Given the description of an element on the screen output the (x, y) to click on. 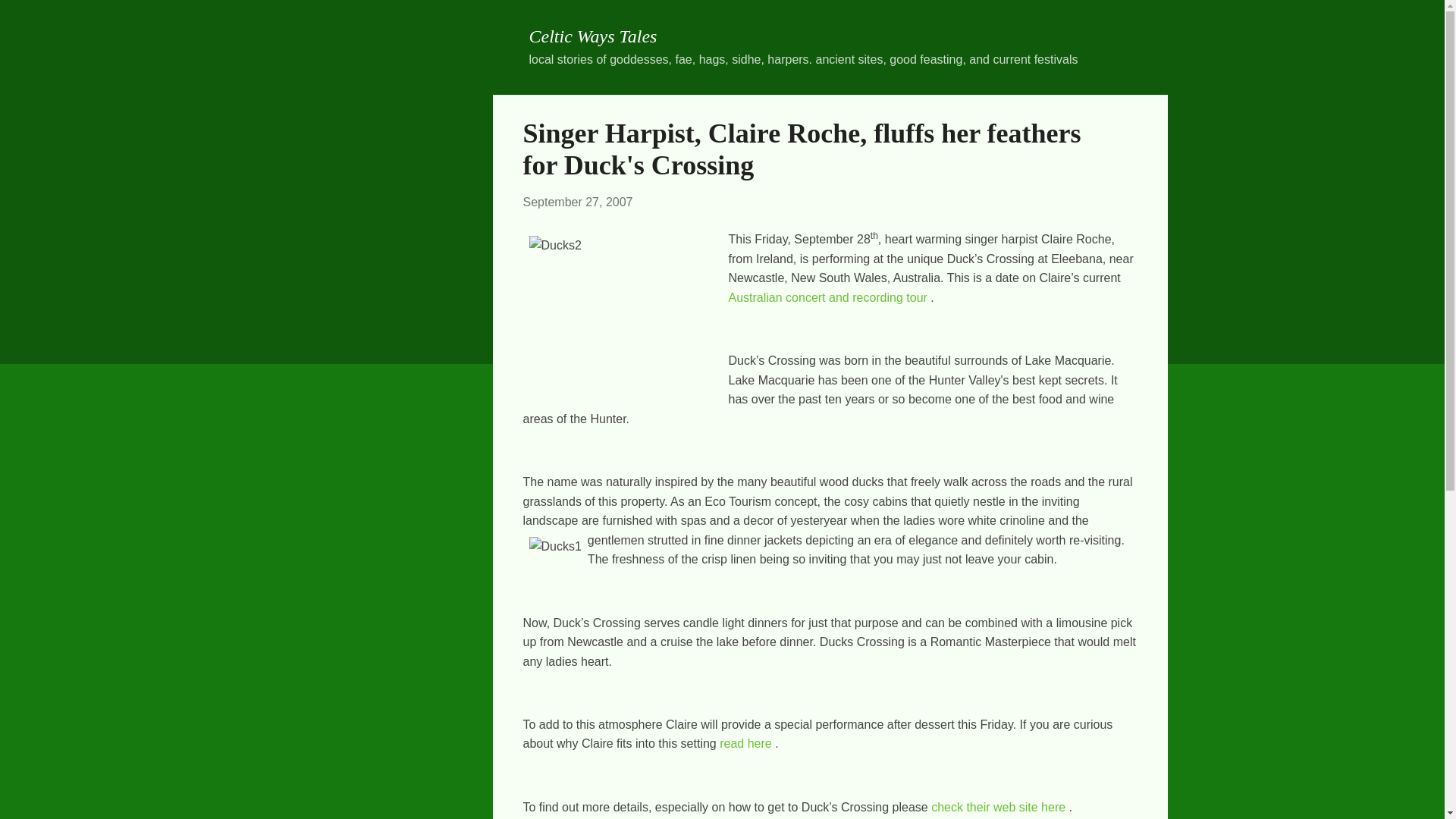
September 27, 2007 (577, 201)
Celtic Ways Tales (593, 35)
read here (745, 743)
Search (32, 18)
check their web site here (998, 807)
permanent link (577, 201)
Australian concert and recording tour (827, 297)
